Given the description of an element on the screen output the (x, y) to click on. 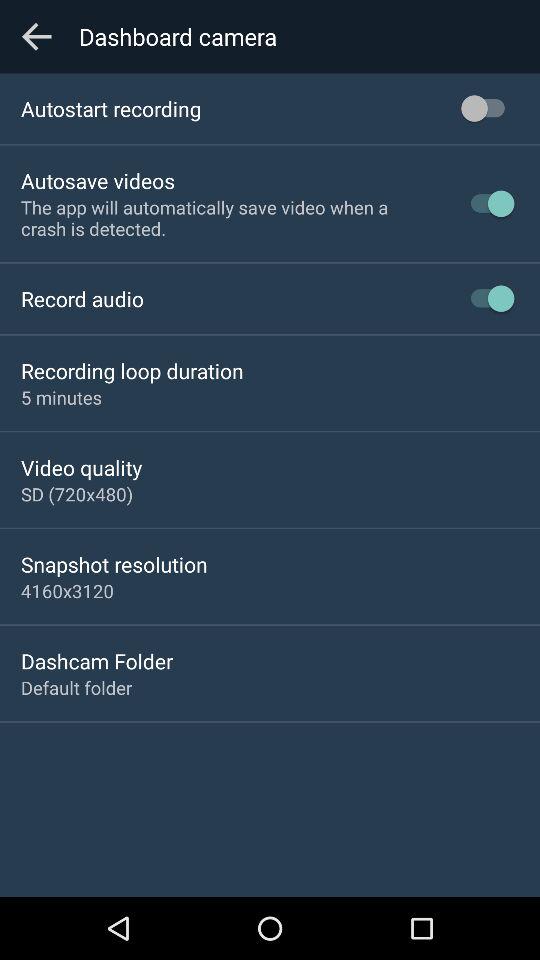
swipe until the dashcam folder icon (97, 660)
